Given the description of an element on the screen output the (x, y) to click on. 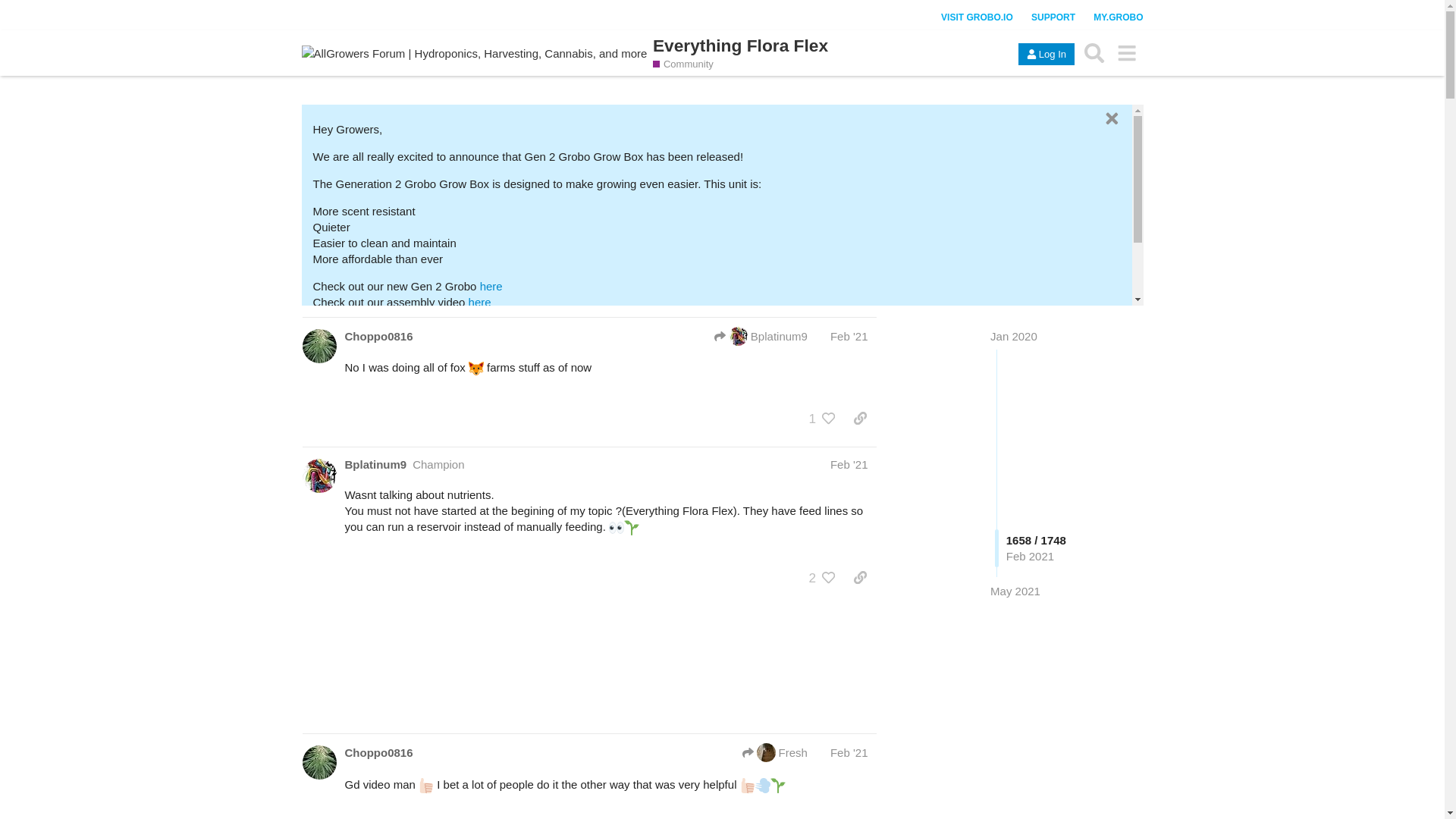
Everything Flora Flex (740, 46)
Choppo0816 (377, 752)
Fresh (775, 752)
Search (1094, 52)
Bplatinum9 (761, 335)
VISIT GROBO.IO (976, 17)
May 2021 (1015, 590)
menu (1126, 52)
May 2021 (1015, 590)
like this post (829, 418)
